Given the description of an element on the screen output the (x, y) to click on. 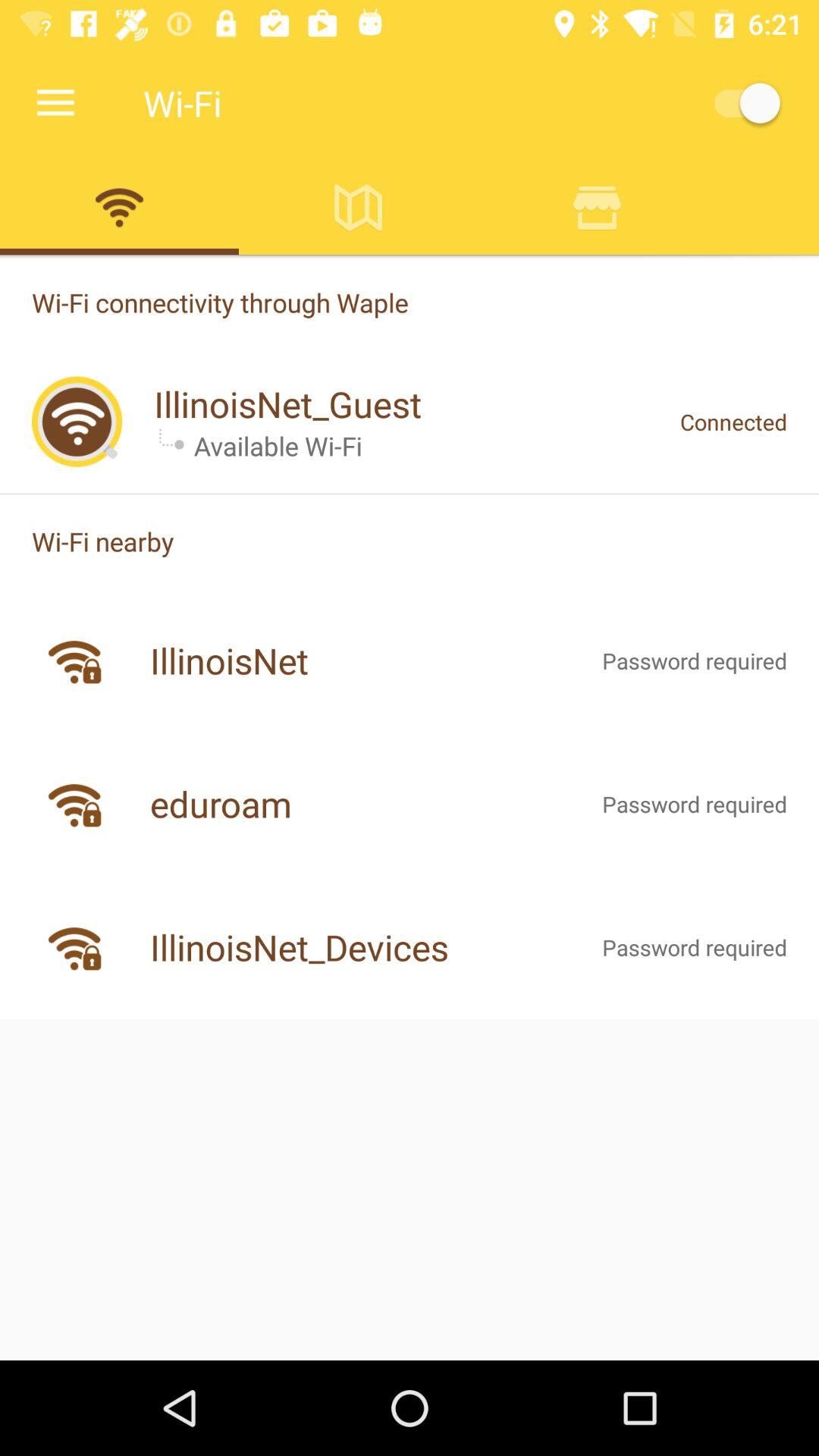
on/ off button (739, 103)
